Given the description of an element on the screen output the (x, y) to click on. 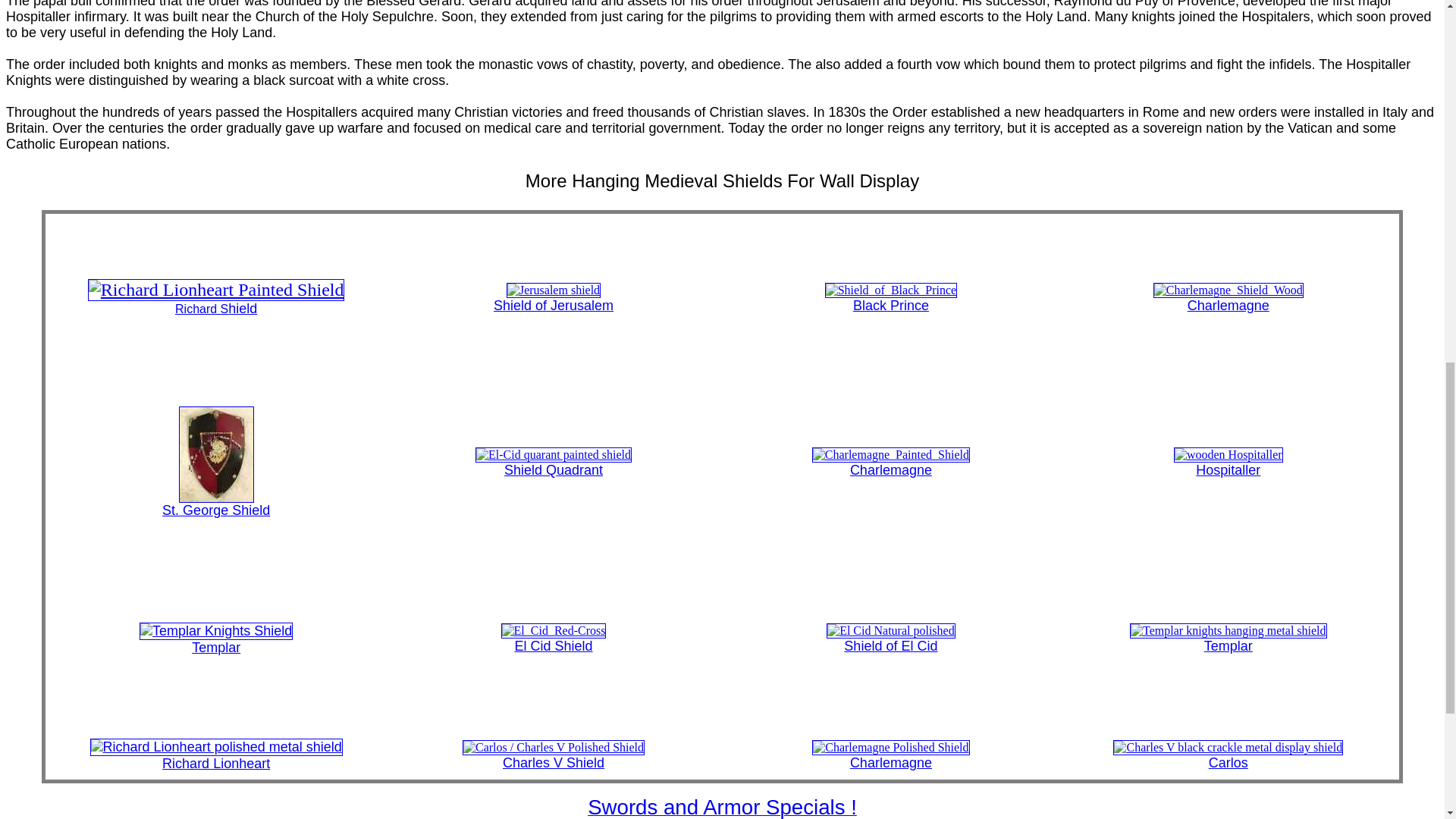
Shield of El Cid (891, 638)
Hospitaller (1227, 461)
Charles V Shield (554, 755)
Richard Shield (216, 300)
Charlemagne (1228, 297)
Black Prince (890, 297)
Shield of Jerusalem (552, 297)
Templar (215, 639)
Swords and Armor Specials ! (722, 809)
St. George Shield (215, 503)
Carlos (1227, 755)
Charlemagne (890, 461)
El Cid Shield (553, 638)
Richard Lionheart (216, 755)
Templar (1227, 638)
